Given the description of an element on the screen output the (x, y) to click on. 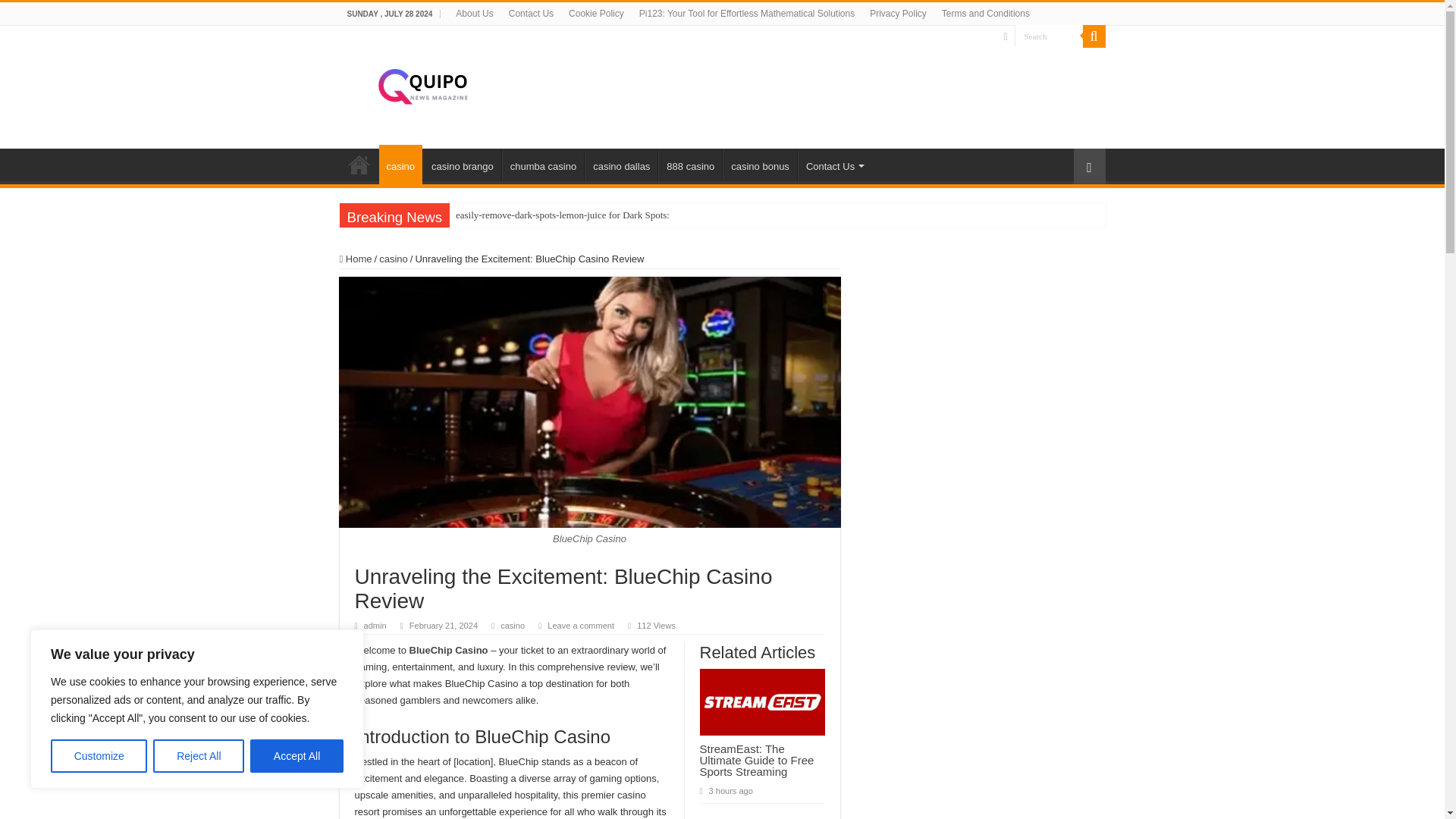
Pi123: Your Tool for Effortless Mathematical Solutions (746, 13)
Search (1094, 36)
Customize (98, 756)
Search (1048, 35)
Rss (1005, 36)
Reject All (198, 756)
easily-remove-dark-spots-lemon-juice for Dark Spots: (562, 215)
chumba casino (542, 164)
Privacy Policy (897, 13)
Terms and Conditions (985, 13)
CasinoQuipo (422, 84)
casino brango (461, 164)
Cookie Policy (595, 13)
About Us (474, 13)
Accept All (296, 756)
